Given the description of an element on the screen output the (x, y) to click on. 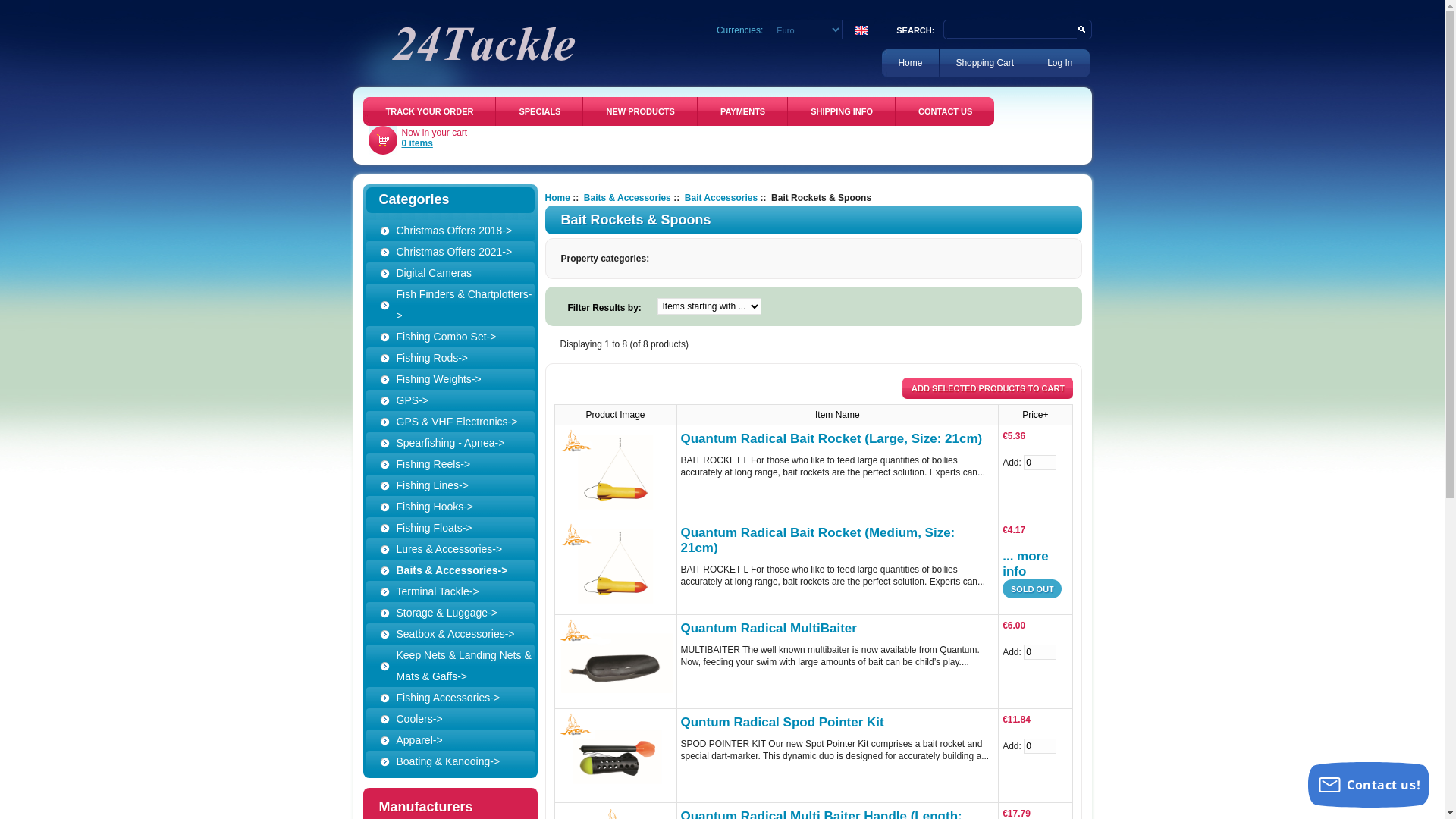
... more info Element type: text (1025, 563)
NEW PRODUCTS Element type: text (639, 111)
Fish Finders & Chartplotters-> Element type: text (456, 304)
Contact us! Element type: text (1368, 784)
Fishing Hooks-> Element type: text (456, 506)
Quantum Radical Bait Rocket (Medium, Size: 21cm) Element type: text (817, 540)
 Quantum Radical Bait Rocket (Large, Size: 21cm)  Element type: hover (614, 471)
 Quantum Radical MultiBaiter  Element type: hover (614, 661)
Fishing Accessories-> Element type: text (456, 697)
 Quntum Radical Spod Pointer Kit  Element type: hover (614, 755)
SPECIALS Element type: text (538, 111)
Price+ Element type: text (1035, 414)
Christmas Offers 2018-> Element type: text (456, 230)
Fishing Weights-> Element type: text (456, 378)
 Add Selected Products to Cart  Element type: hover (987, 387)
PAYMENTS Element type: text (741, 111)
Bait Accessories Element type: text (720, 197)
Spearfishing - Apnea-> Element type: text (456, 442)
Digital Cameras Element type: text (456, 272)
Home Element type: text (909, 63)
Item Name Element type: text (837, 414)
Terminal Tackle-> Element type: text (456, 591)
GPS-> Element type: text (456, 400)
 Sold Out  Element type: hover (1031, 588)
Log In Element type: text (1059, 63)
Lures & Accessories-> Element type: text (456, 548)
Keep Nets & Landing Nets & Mats & Gaffs-> Element type: text (456, 665)
Storage & Luggage-> Element type: text (456, 612)
Home Element type: text (556, 197)
Quantum Radical Bait Rocket (Large, Size: 21cm) Element type: text (831, 438)
Fishing Reels-> Element type: text (456, 463)
Apparel-> Element type: text (456, 739)
SHIPPING INFO Element type: text (840, 111)
Quntum Radical Spod Pointer Kit Element type: text (782, 722)
Shopping Cart Element type: text (984, 63)
Fishing Lines-> Element type: text (456, 484)
Quantum Radical MultiBaiter Element type: text (768, 628)
 English  Element type: hover (861, 29)
Boating & Kanooing-> Element type: text (456, 760)
TRACK YOUR ORDER Element type: text (428, 111)
Baits & Accessories-> Element type: text (456, 569)
Baits & Accessories Element type: text (627, 197)
 Search  Element type: hover (1084, 29)
0 items Element type: text (417, 143)
CONTACT US Element type: text (944, 111)
Christmas Offers 2021-> Element type: text (456, 251)
Coolers-> Element type: text (456, 718)
Fishing Floats-> Element type: text (456, 527)
Fishing Combo Set-> Element type: text (456, 336)
 Quantum Radical Bait Rocket (Medium, Size: 21cm)  Element type: hover (614, 565)
Seatbox & Accessories-> Element type: text (456, 633)
Fishing Rods-> Element type: text (456, 357)
GPS & VHF Electronics-> Element type: text (456, 421)
